Given the description of an element on the screen output the (x, y) to click on. 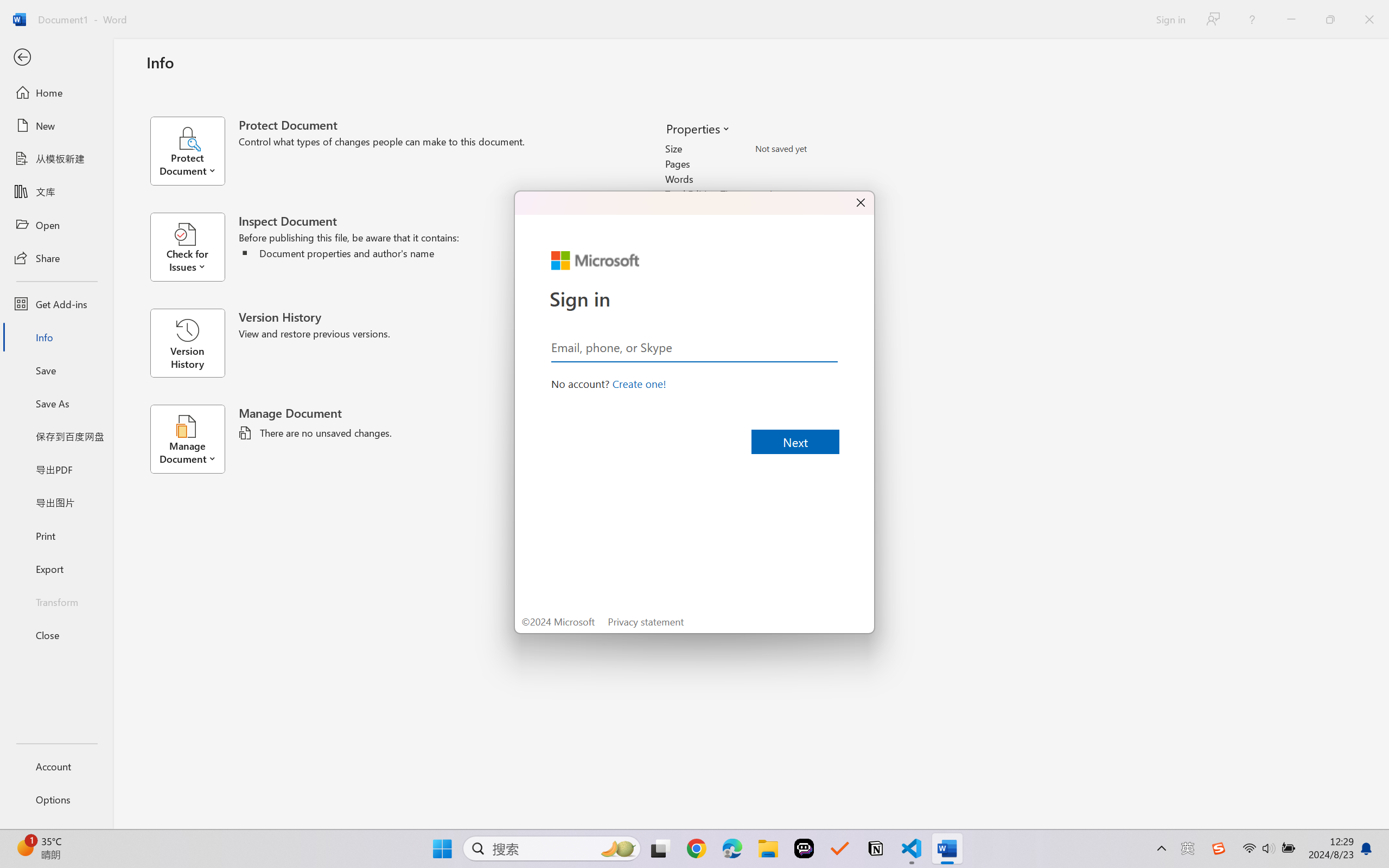
Check for Issues (194, 246)
Pages (818, 163)
Export (56, 568)
